Given the description of an element on the screen output the (x, y) to click on. 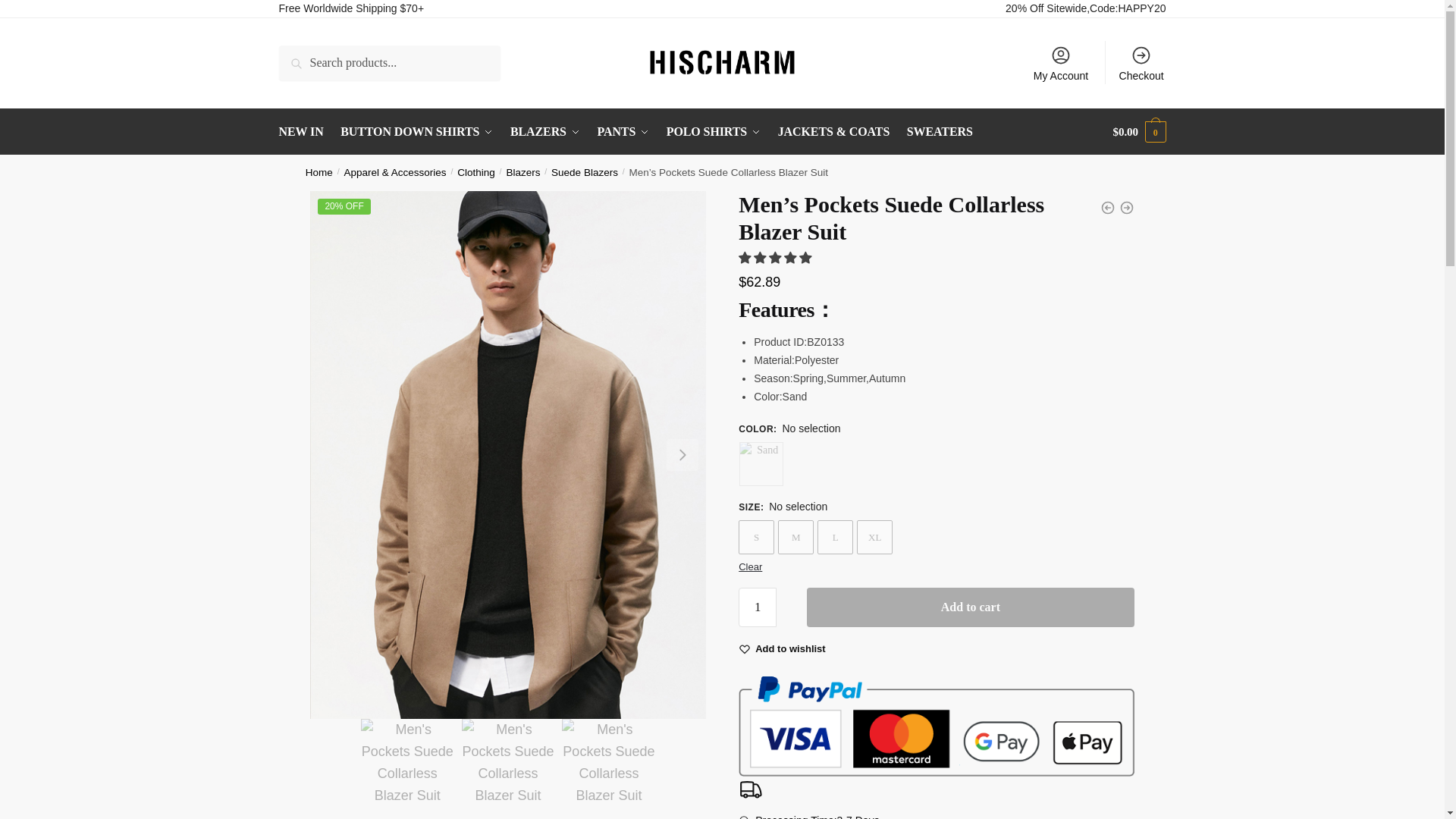
Checkout (1141, 62)
BUTTON DOWN SHIRTS (416, 131)
Search (300, 55)
My Account (1061, 62)
NEW IN (304, 131)
1 (757, 607)
